Given the description of an element on the screen output the (x, y) to click on. 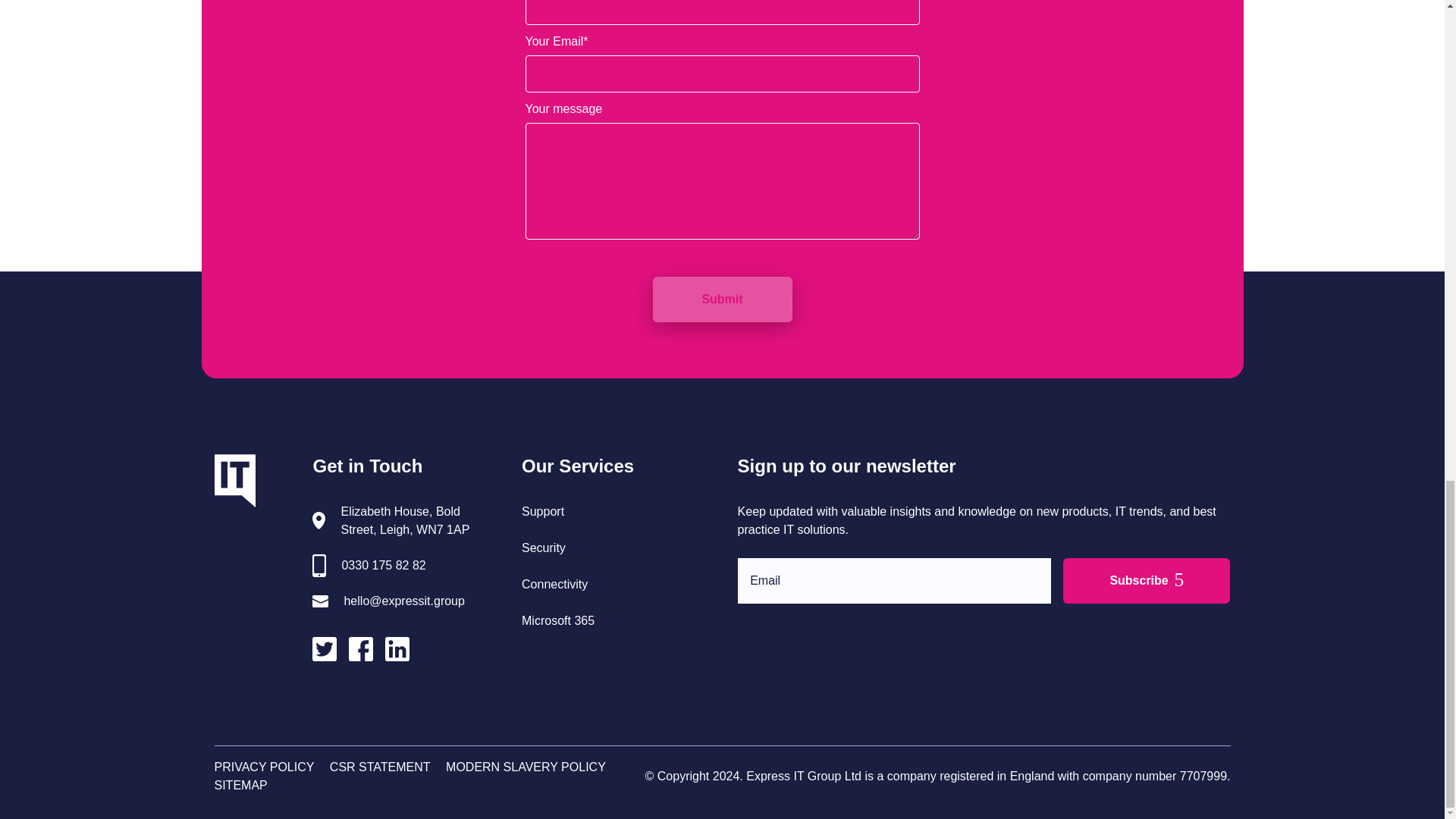
0330 175 82 82 (382, 565)
IT Support (542, 511)
IT Connectivity (554, 584)
Facebook (367, 652)
ANTI-SLAVERY POLICY (525, 767)
Submit (722, 299)
IT Security (543, 547)
Twitter (331, 651)
PCSR STATEMENT (380, 767)
Privacy Policy (264, 767)
